Given the description of an element on the screen output the (x, y) to click on. 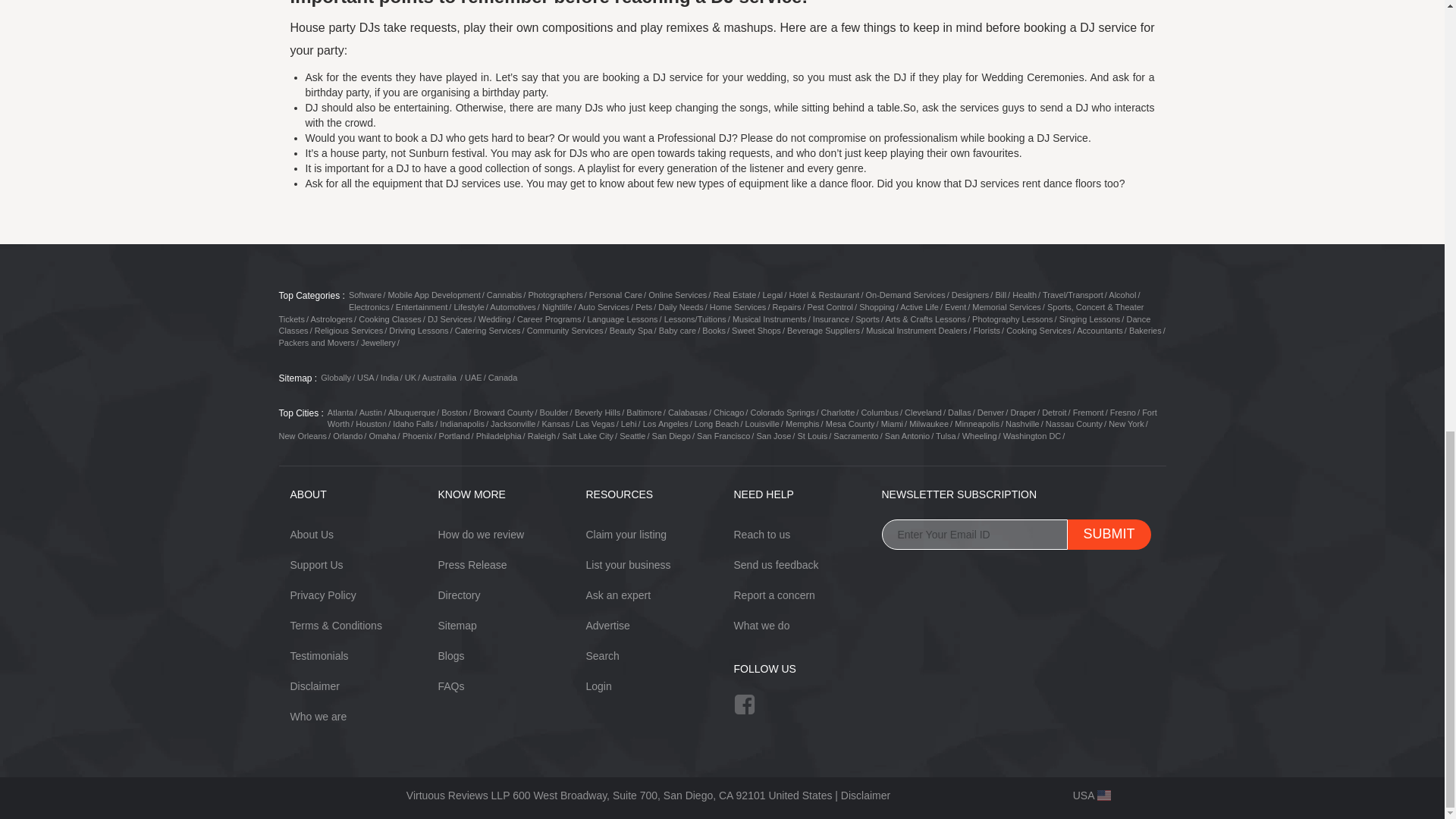
What we do (761, 625)
Who we are (317, 716)
